Given the description of an element on the screen output the (x, y) to click on. 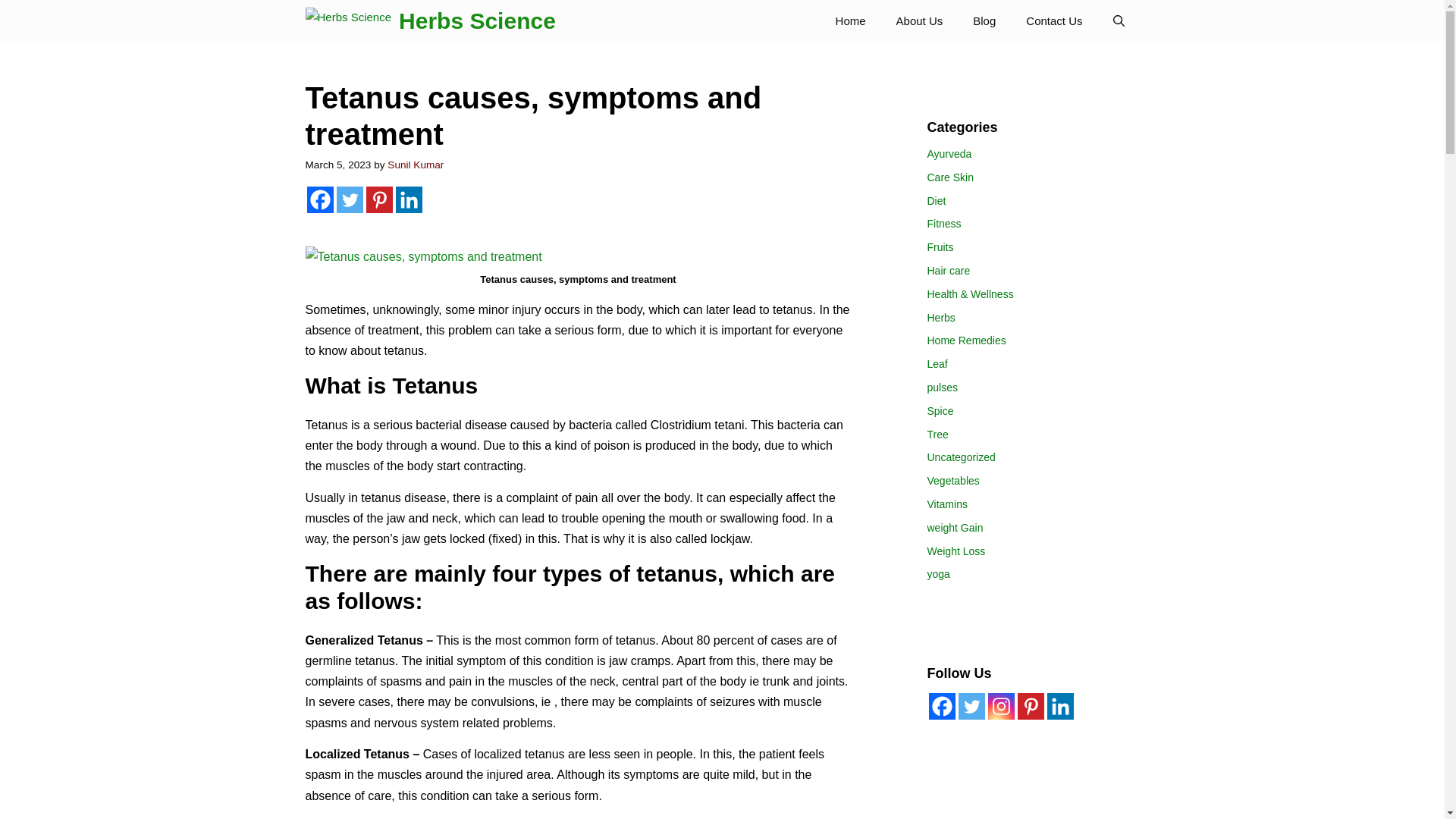
Pinterest (378, 199)
Home (850, 20)
Herbs Science (477, 20)
Herbs Science (347, 20)
Facebook (941, 705)
Care Skin (949, 177)
Facebook (319, 199)
View all posts by Sunil Kumar (415, 164)
Ayurveda (948, 153)
Contact Us (1053, 20)
Sunil Kumar (415, 164)
About Us (919, 20)
Twitter (349, 199)
Linkedin (409, 199)
Blog (984, 20)
